Given the description of an element on the screen output the (x, y) to click on. 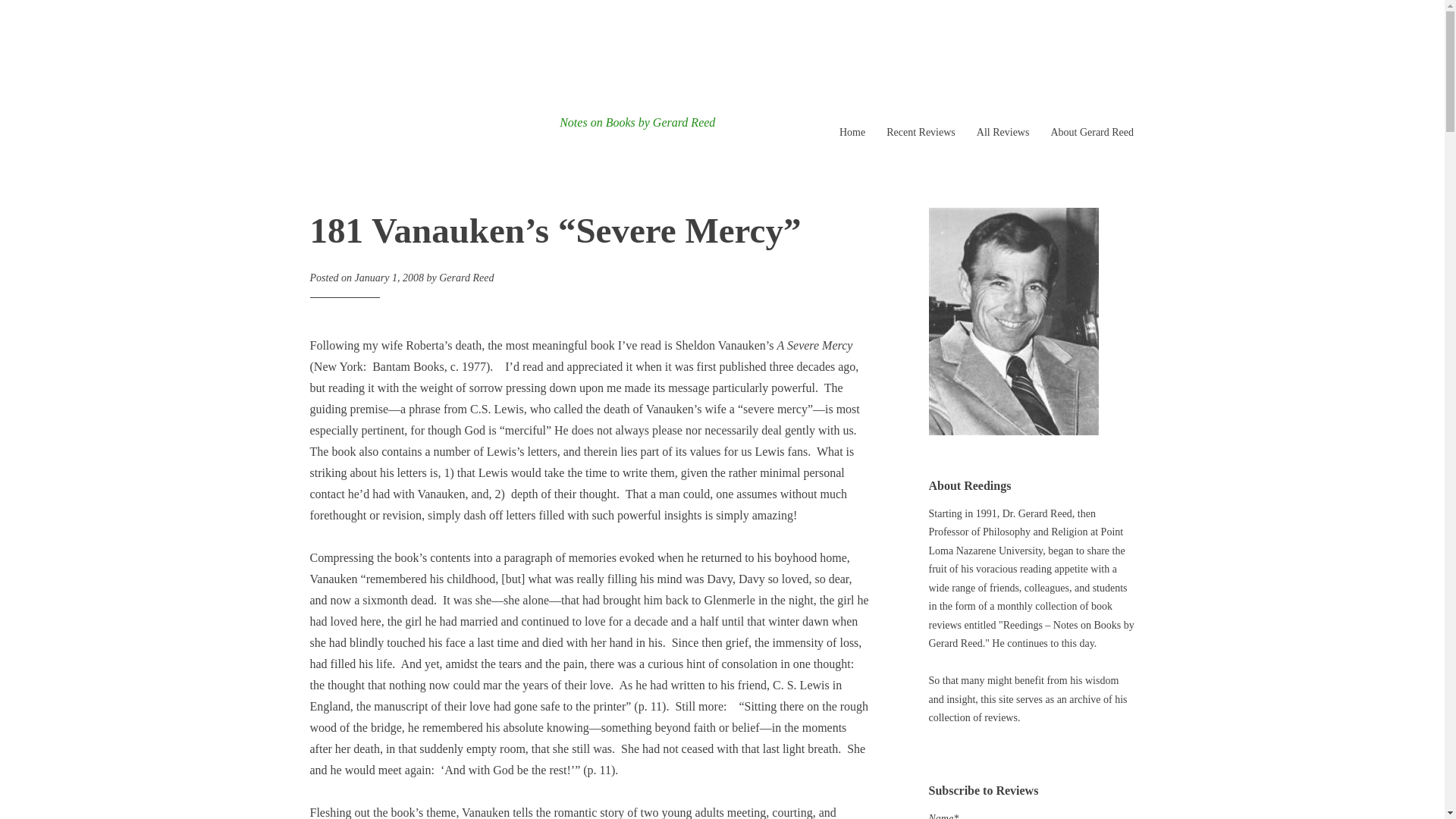
Gerard Reed (466, 277)
Recent Reviews (920, 132)
Home (852, 132)
About Gerard Reed (1091, 132)
January 1, 2008 (389, 277)
All Reviews (1002, 132)
